Given the description of an element on the screen output the (x, y) to click on. 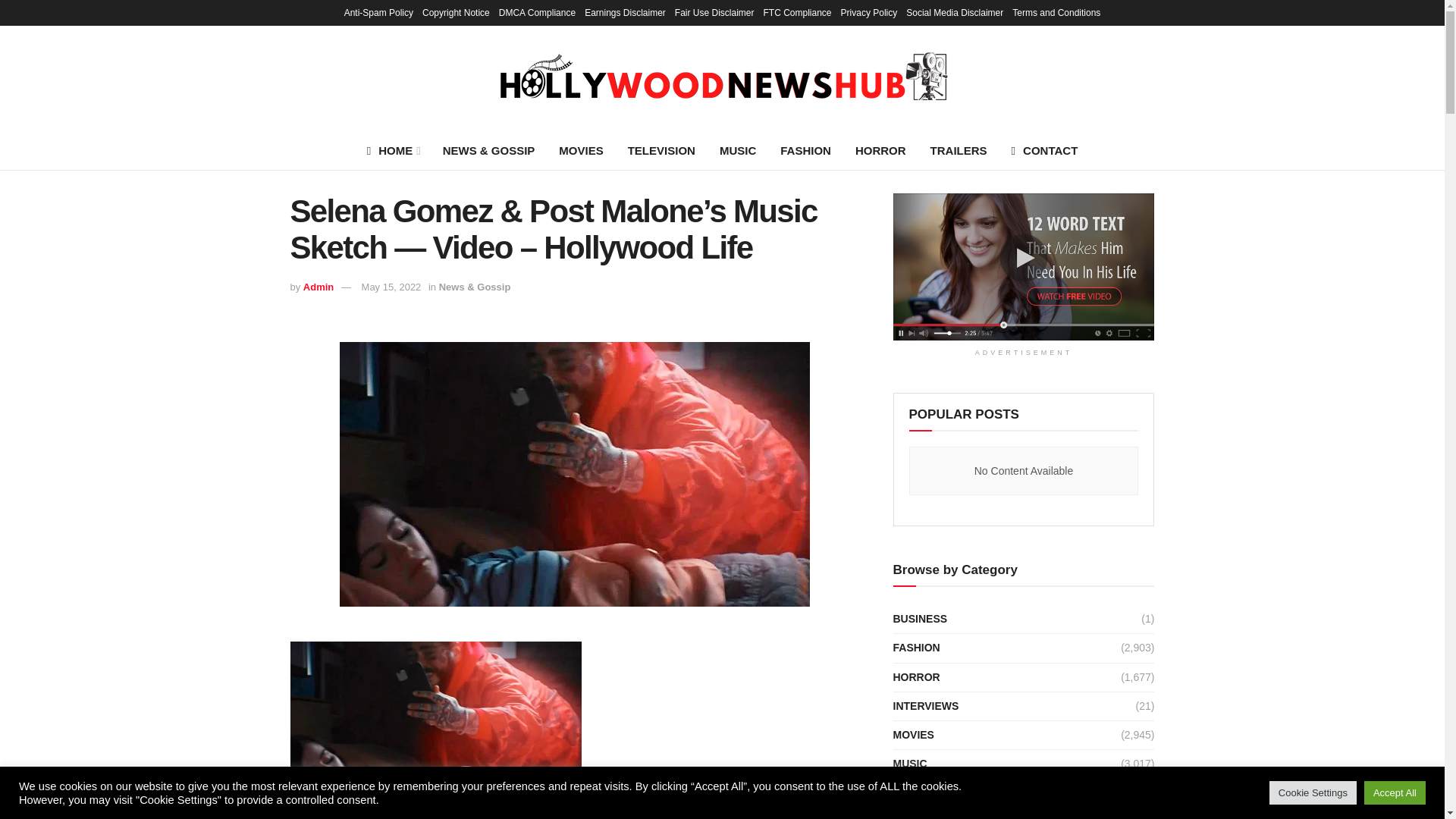
HORROR (880, 150)
Privacy Policy (869, 12)
HOME (392, 150)
DMCA Compliance (537, 12)
FASHION (805, 150)
Anti-Spam Policy (378, 12)
Fair Use Disclaimer (714, 12)
TELEVISION (661, 150)
MUSIC (737, 150)
May 15, 2022 (391, 286)
MOVIES (580, 150)
TRAILERS (958, 150)
Admin (317, 286)
Earnings Disclaimer (625, 12)
Terms and Conditions (1055, 12)
